Given the description of an element on the screen output the (x, y) to click on. 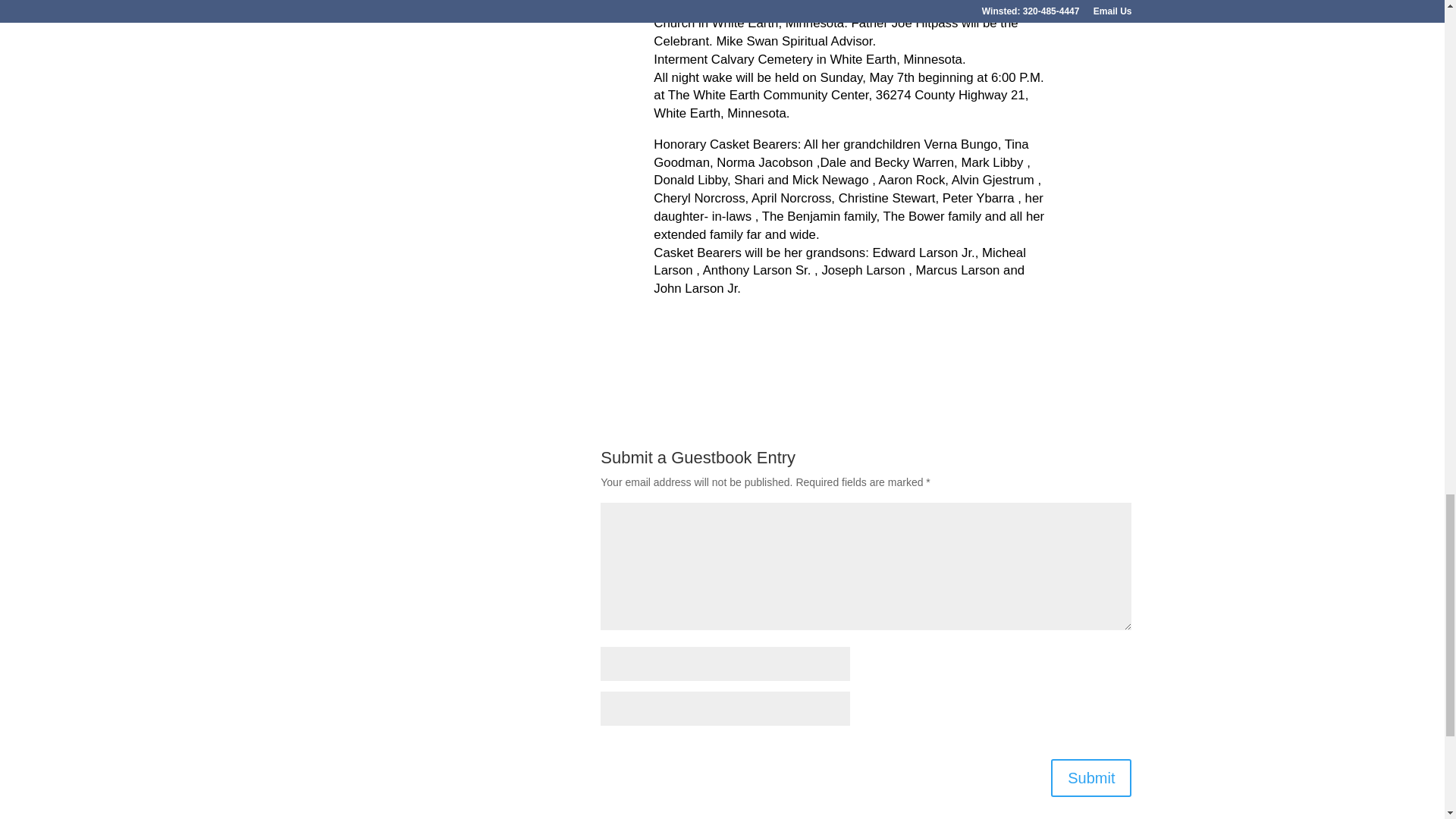
Submit (1091, 777)
